Given the description of an element on the screen output the (x, y) to click on. 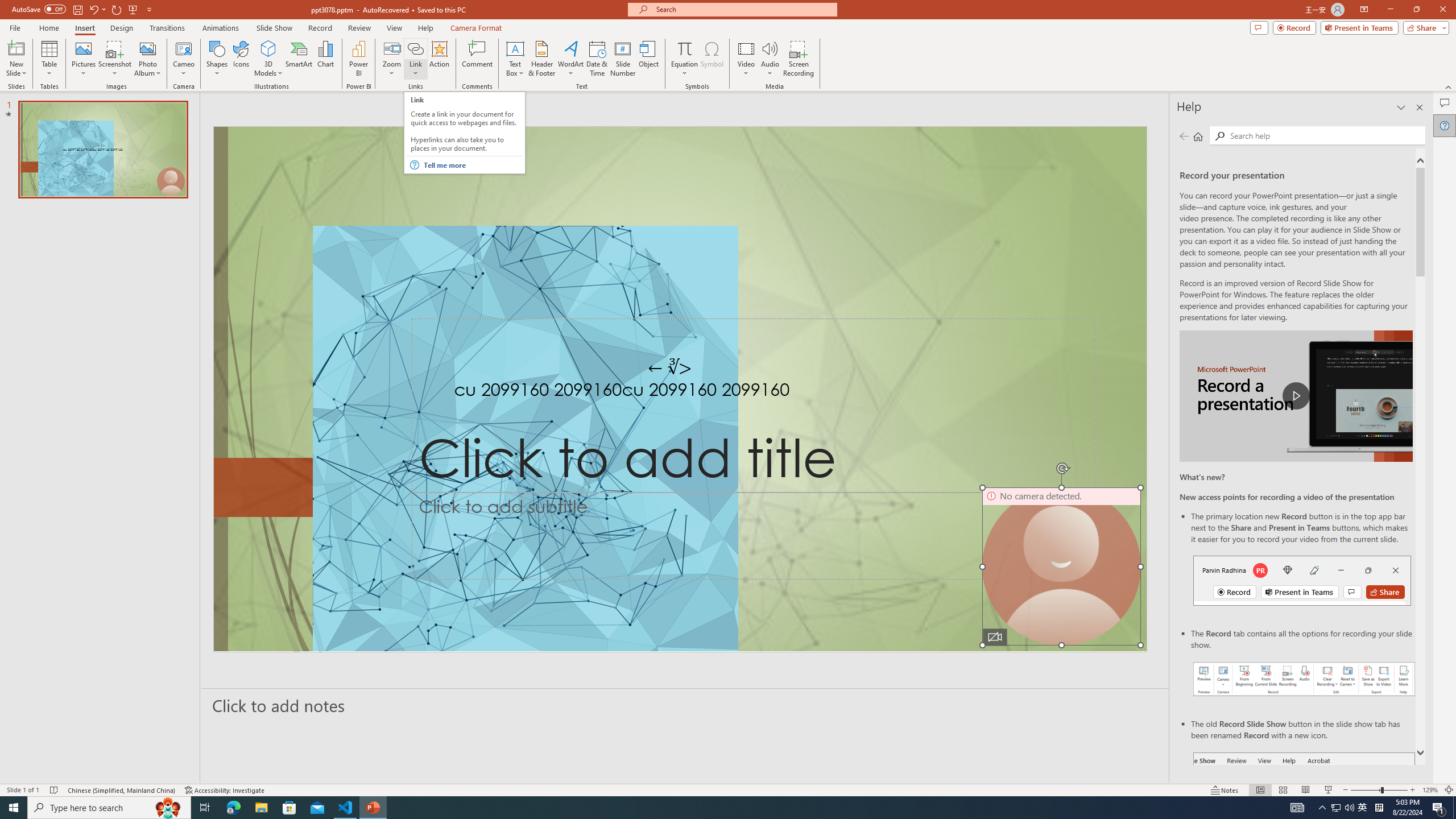
Slide (103, 149)
Collapse the Ribbon (1448, 86)
Comment (476, 58)
Restore Down (1416, 9)
3D Models (268, 58)
Notes  (1225, 790)
Class: NetUIImage (414, 164)
Microsoft search (742, 9)
Slide Show (1328, 790)
WordArt (570, 58)
Screenshot (114, 58)
Home (1198, 136)
Redo (117, 9)
Help (1444, 125)
